Given the description of an element on the screen output the (x, y) to click on. 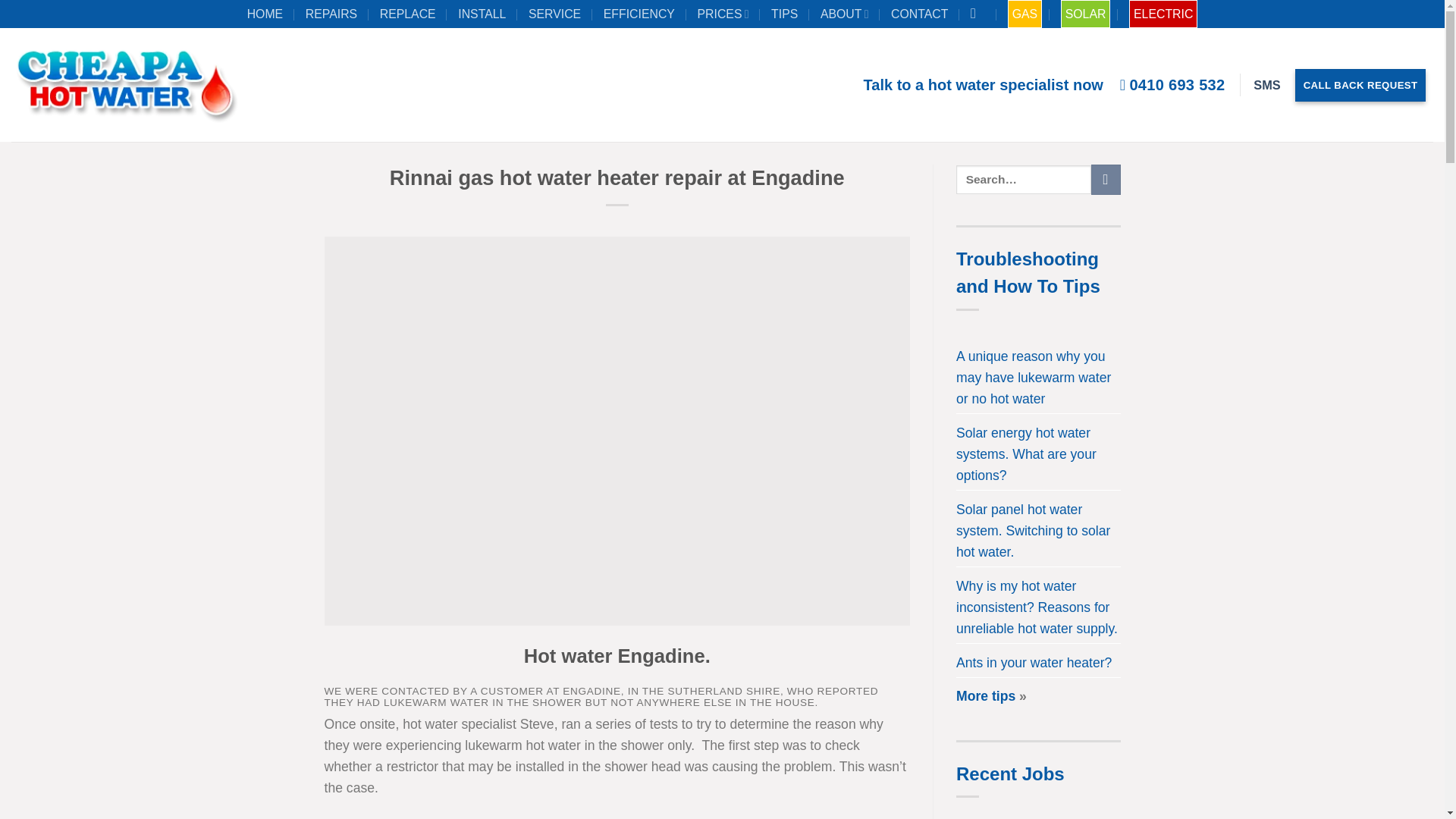
TIPS (786, 13)
ELECTRIC (1162, 13)
SMS (1266, 84)
CONTACT (921, 13)
PRICES (724, 13)
SERVICE (556, 13)
0410 693 532 (1172, 84)
CALL BACK REQUEST (1360, 85)
EFFICIENCY (641, 13)
ABOUT (846, 13)
